Given the description of an element on the screen output the (x, y) to click on. 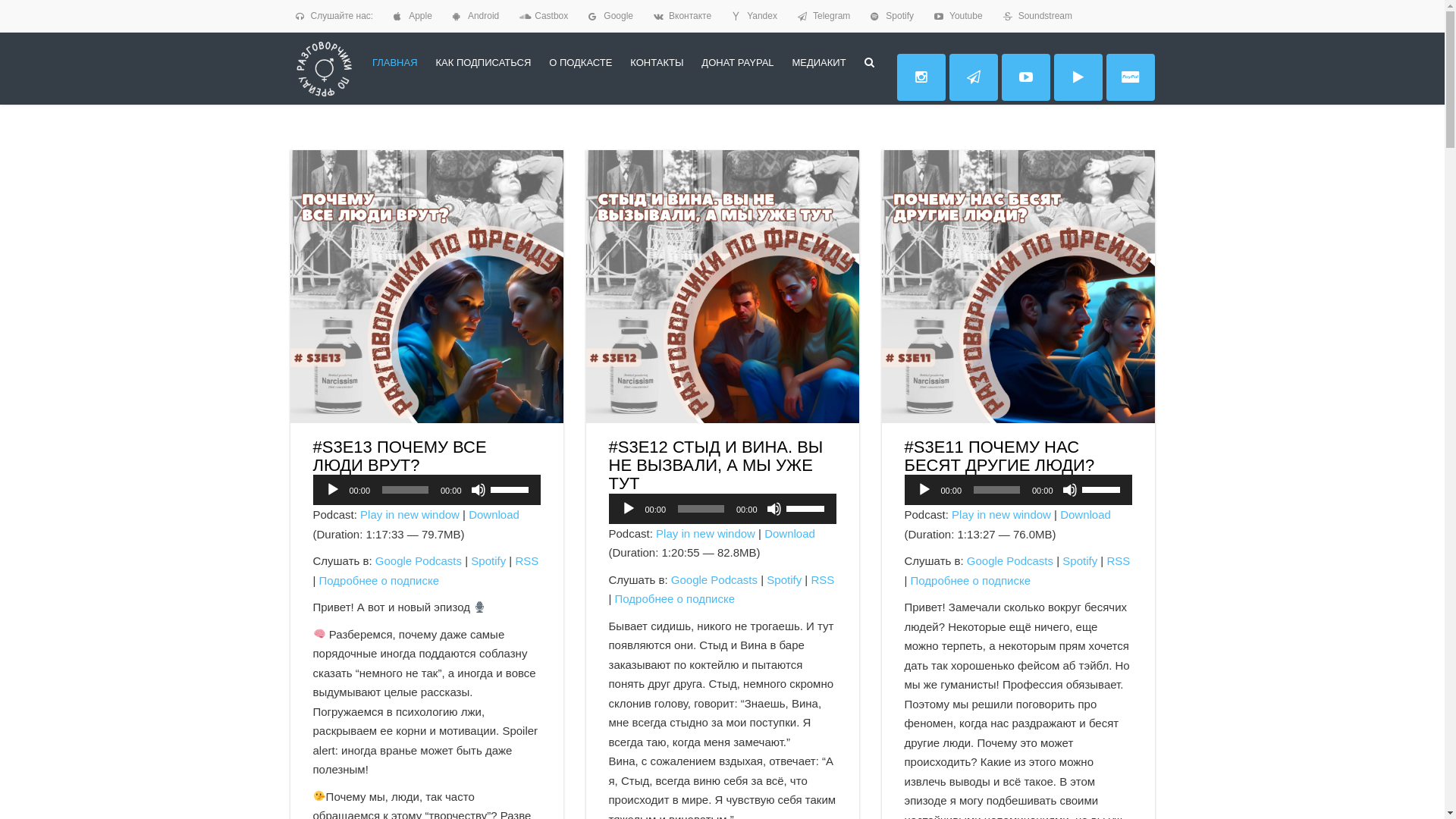
RSS Element type: text (526, 560)
Play in new window Element type: text (705, 533)
Download Element type: text (1085, 514)
Play in new window Element type: text (409, 514)
Spotify Element type: text (487, 560)
Google Element type: text (618, 15)
Apple Element type: text (420, 15)
Download Element type: text (493, 514)
Spotify Element type: text (899, 15)
Google Podcasts Element type: text (714, 579)
Soundstream Element type: text (1045, 15)
Download Element type: text (789, 533)
Castbox Element type: text (550, 15)
Yandex Element type: text (761, 15)
Telegram Element type: text (831, 15)
Spotify Element type: text (783, 579)
Youtube Element type: text (965, 15)
Spotify Element type: text (1079, 560)
Google Podcasts Element type: text (1009, 560)
Android Element type: text (482, 15)
RSS Element type: text (822, 579)
RSS Element type: text (1117, 560)
Google Podcasts Element type: text (418, 560)
Play in new window Element type: text (1001, 514)
